Given the description of an element on the screen output the (x, y) to click on. 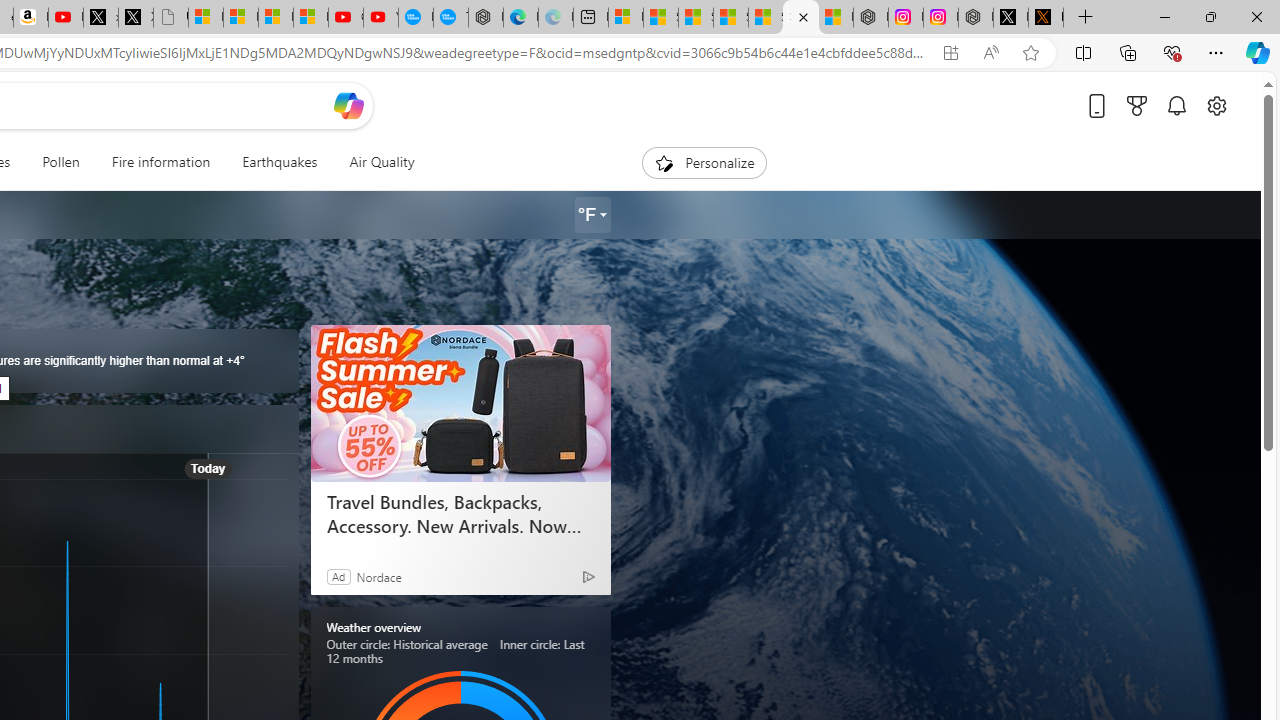
Nordace (@NordaceOfficial) / X (1010, 17)
Open settings (1216, 105)
